Given the description of an element on the screen output the (x, y) to click on. 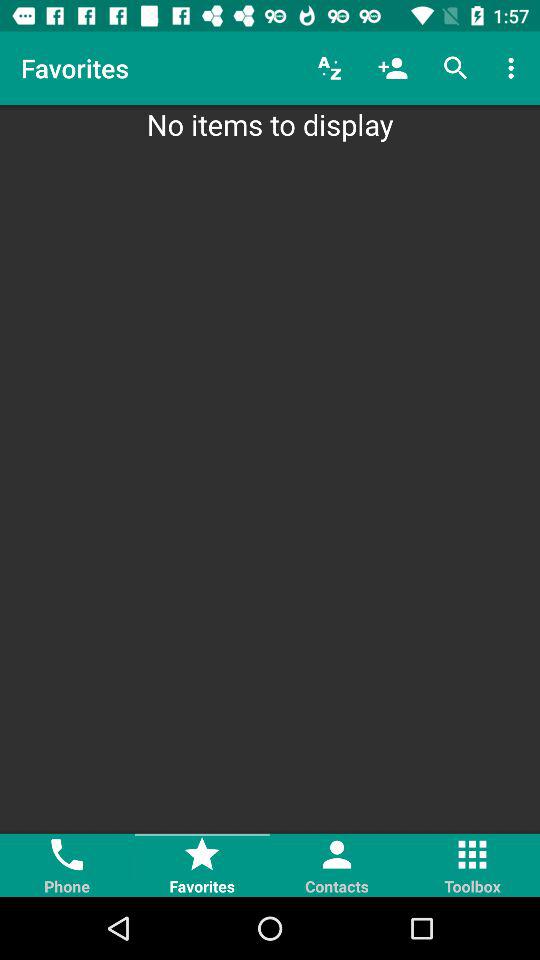
press the item above the no items to item (392, 67)
